Given the description of an element on the screen output the (x, y) to click on. 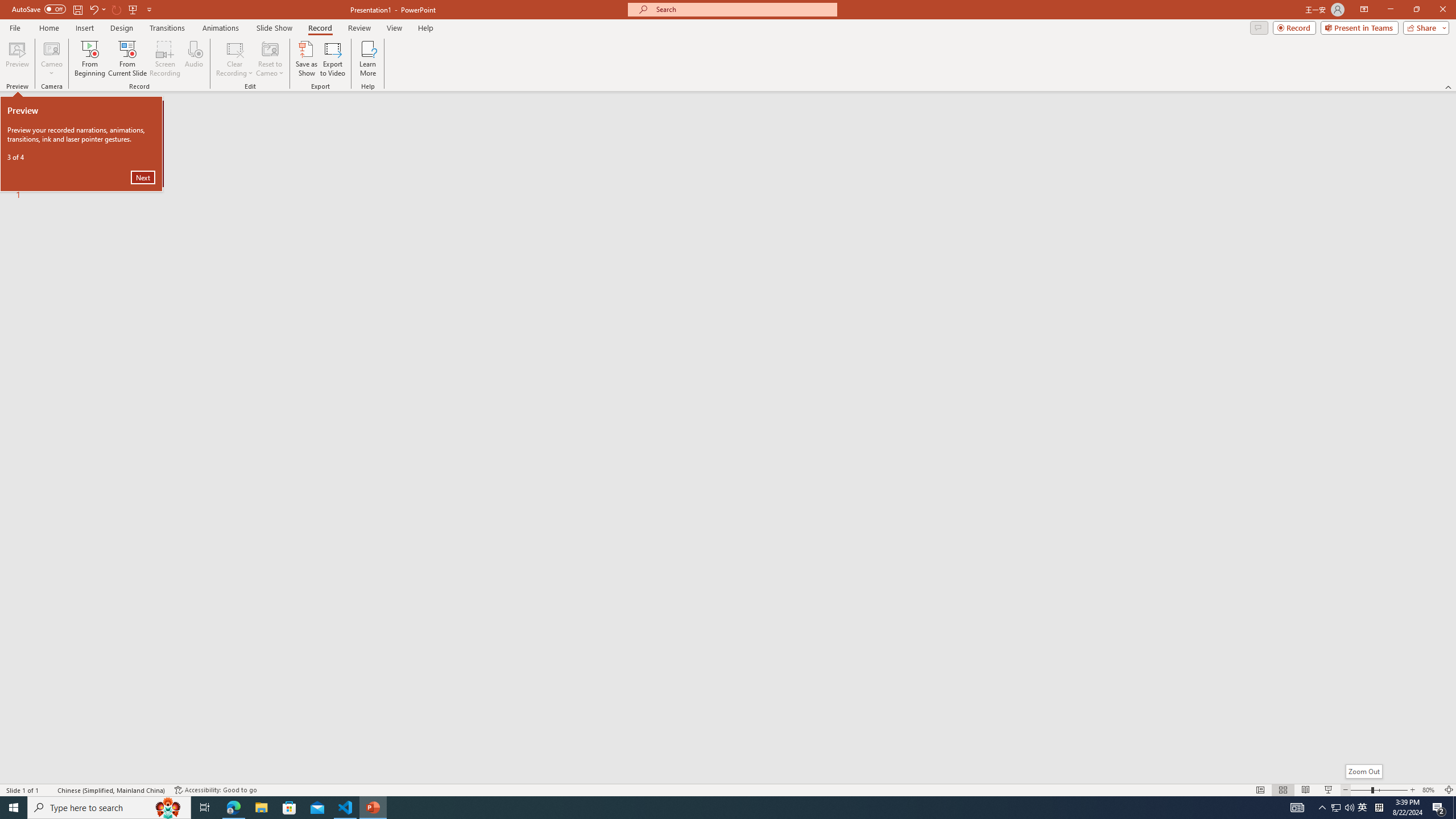
Next (143, 177)
Microsoft Edge - 1 running window (233, 807)
Reset to Cameo (269, 58)
Clear Recording (234, 58)
